Given the description of an element on the screen output the (x, y) to click on. 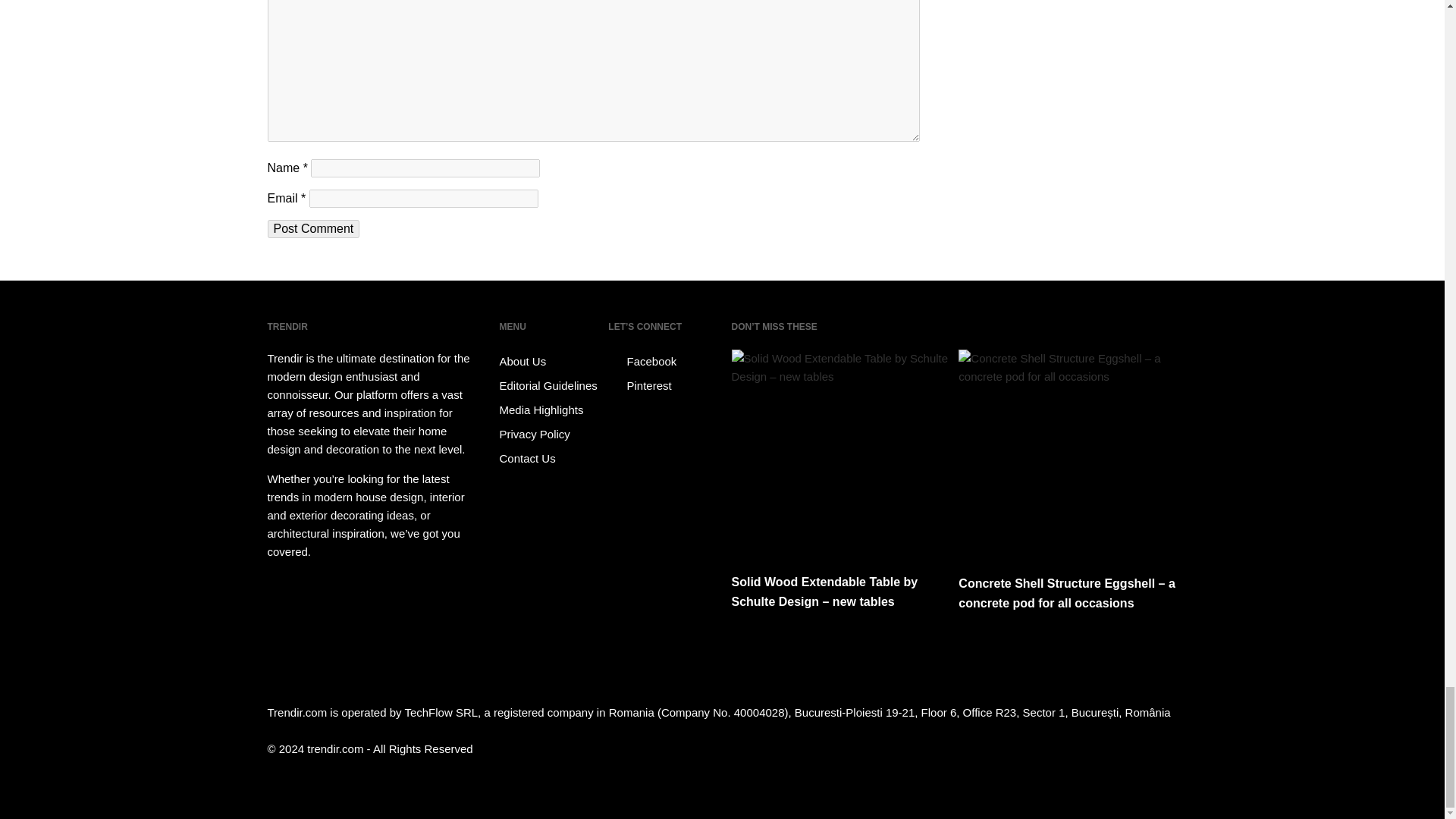
Post Comment (312, 229)
Media Highlights - Trendir (551, 410)
Trendir Editorial Guidelines (551, 385)
About Us - Trendir (551, 361)
